Given the description of an element on the screen output the (x, y) to click on. 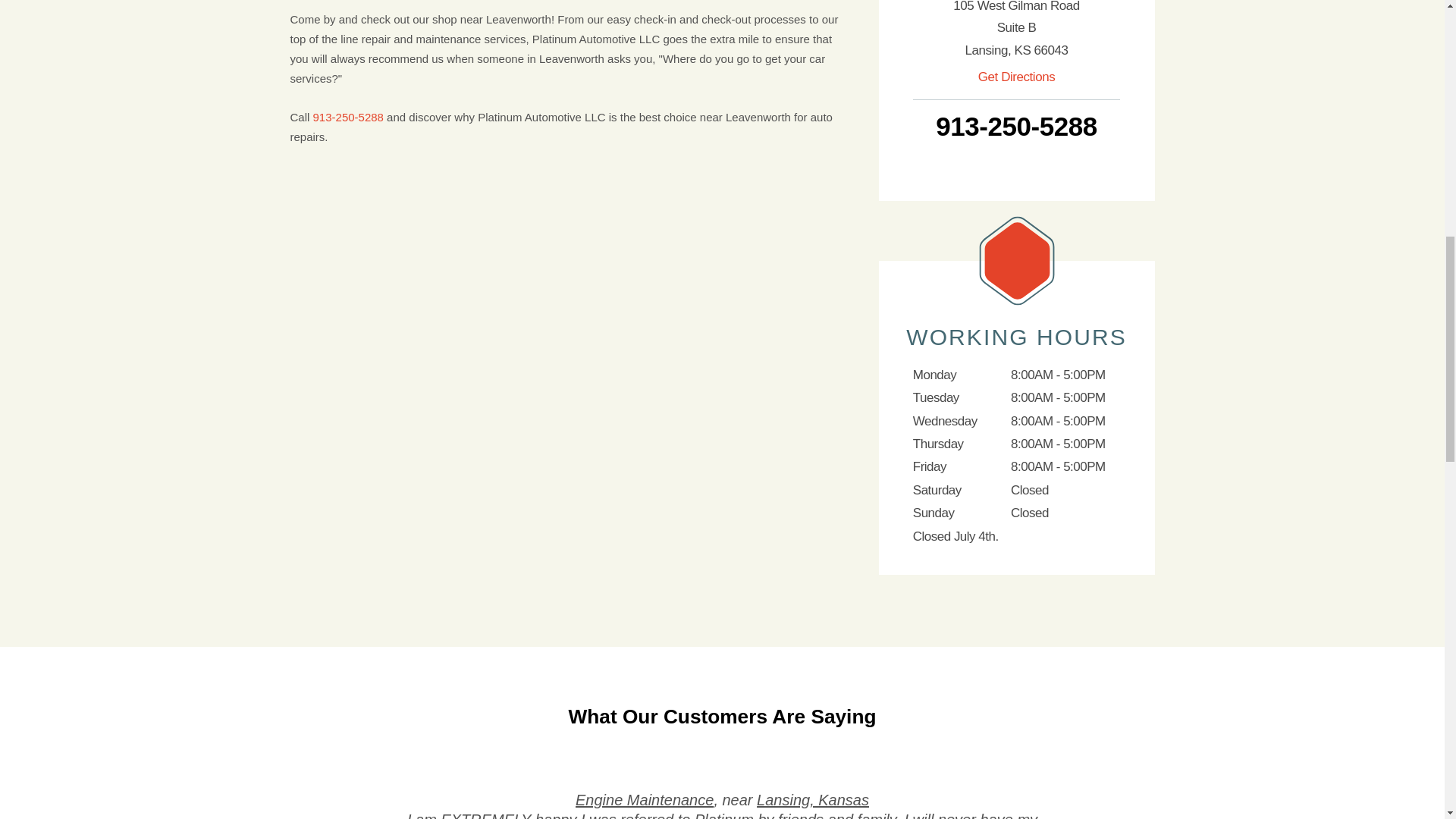
913-250-5288 (348, 116)
